Given the description of an element on the screen output the (x, y) to click on. 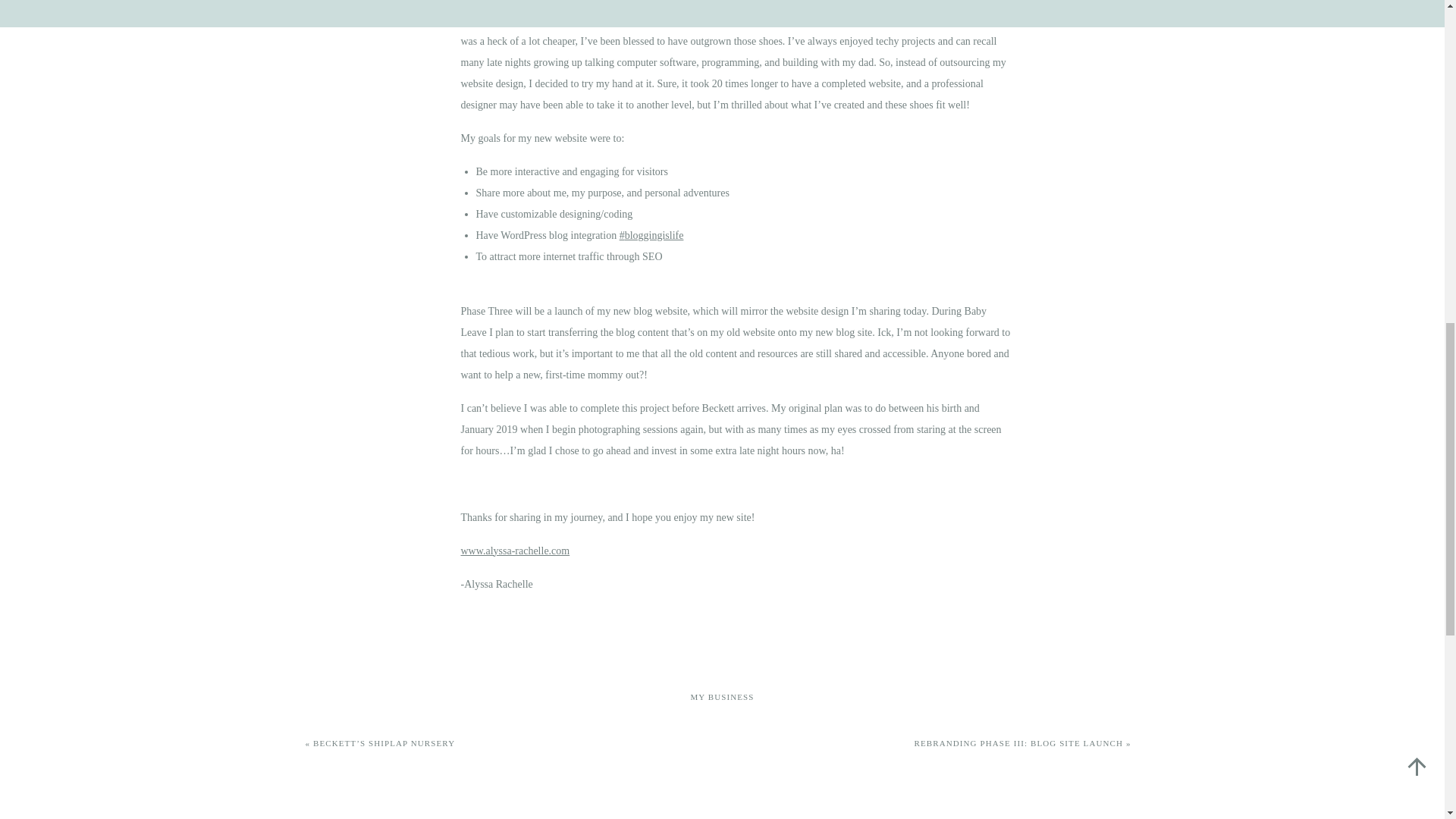
smile emoticon (765, 516)
REBRANDING PHASE III: BLOG SITE LAUNCH (1019, 742)
MY BUSINESS (722, 696)
smile emoticon (515, 550)
www.alyssa-rachelle.com (515, 550)
smile emoticon (978, 103)
